Given the description of an element on the screen output the (x, y) to click on. 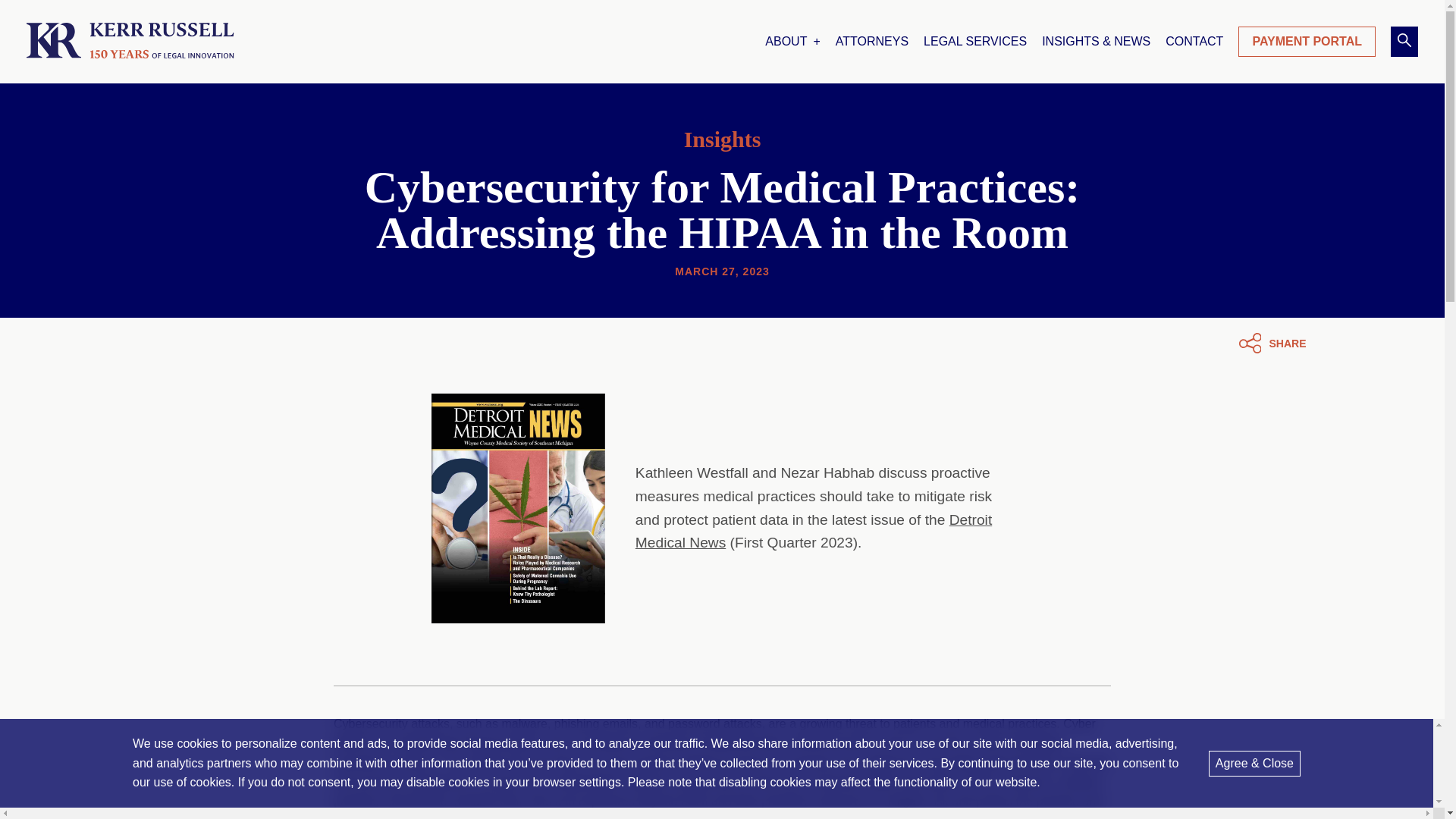
Kerr Russell home (130, 41)
LEGAL SERVICES (974, 41)
CONTACT (1194, 41)
SHARE (1272, 342)
PAYMENT PORTAL (1307, 41)
ATTORNEYS (871, 41)
ABOUT (792, 41)
